Given the description of an element on the screen output the (x, y) to click on. 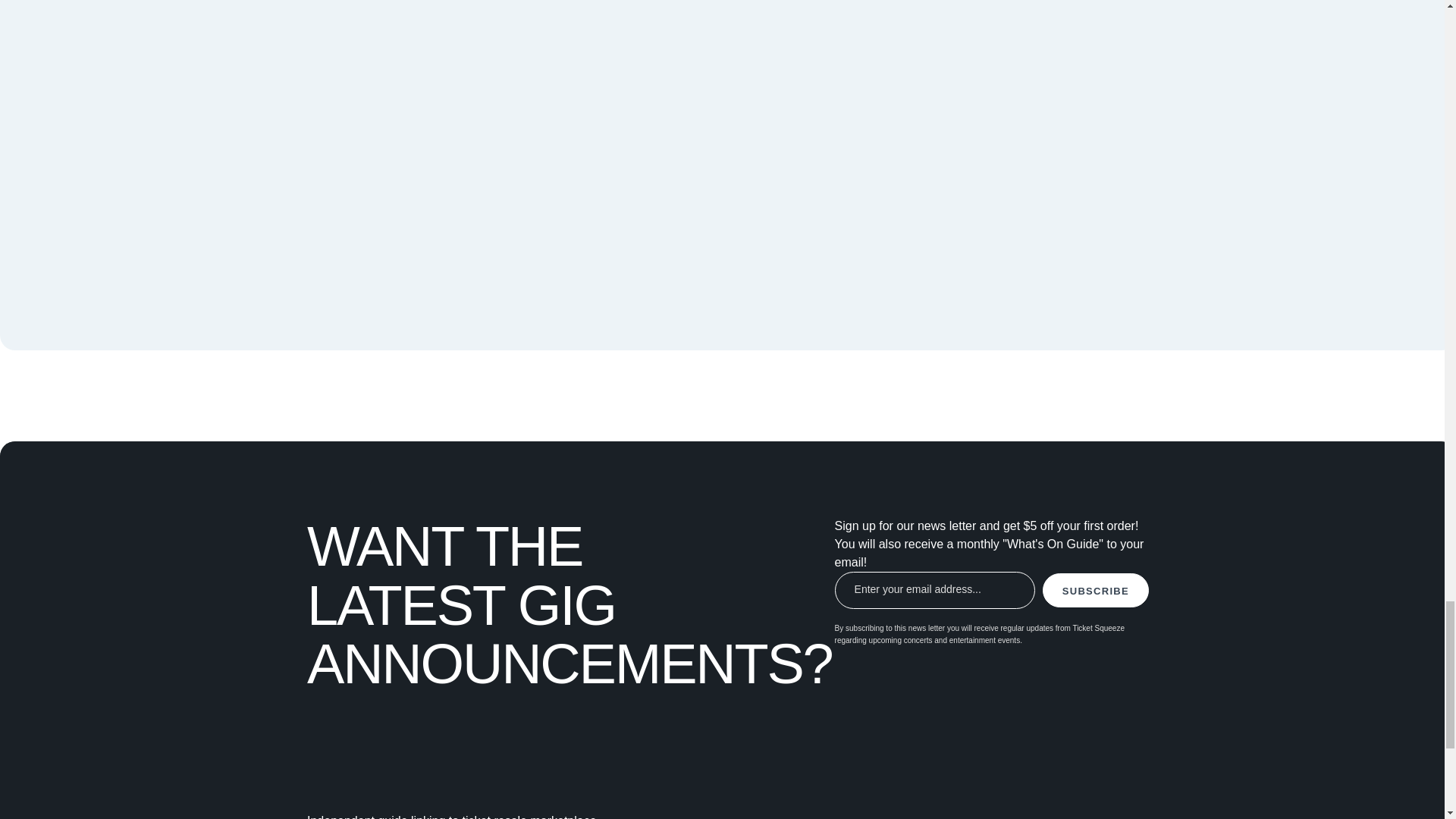
SUBSCRIBE (1095, 590)
venue map (905, 129)
